Given the description of an element on the screen output the (x, y) to click on. 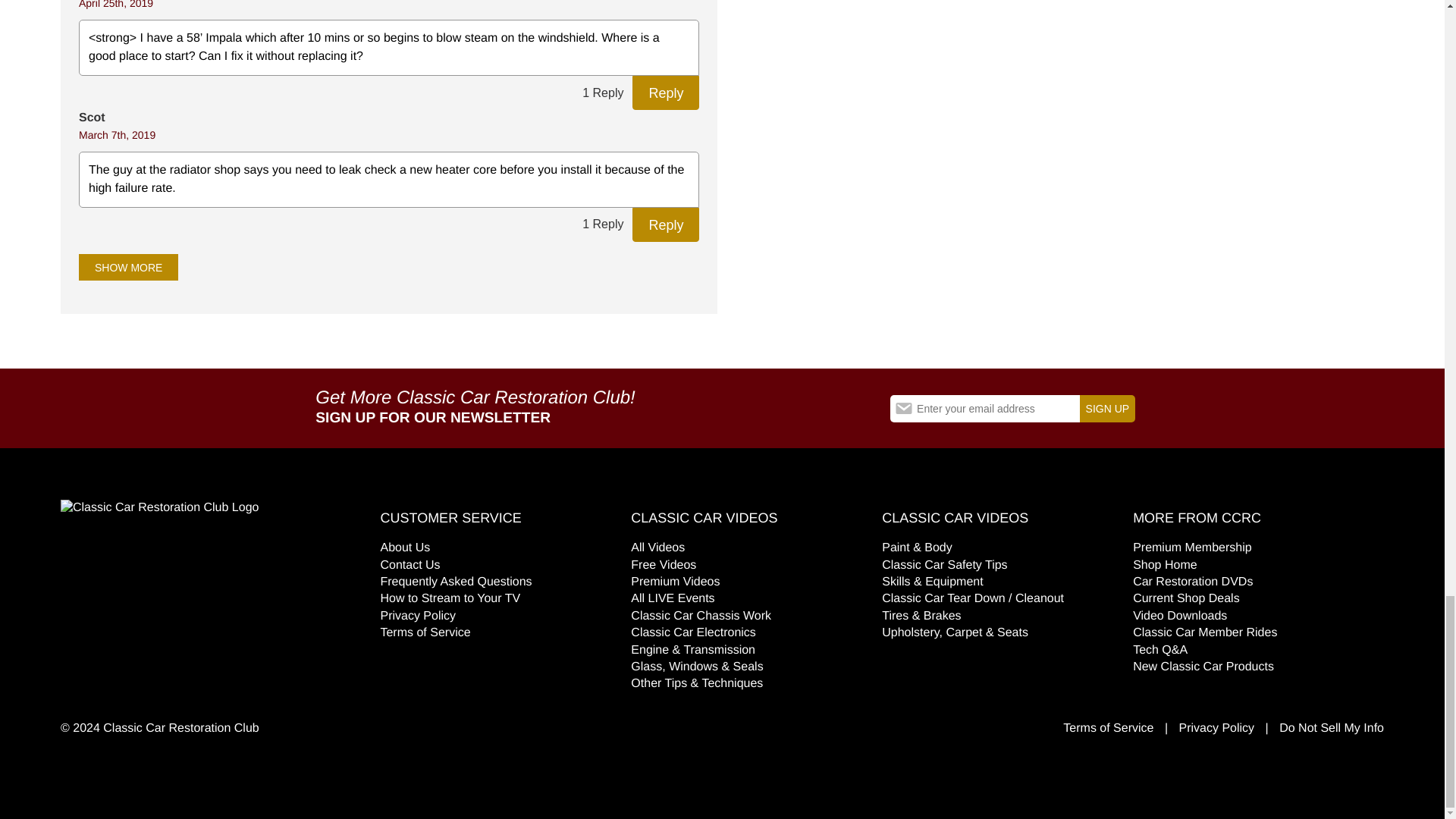
Reply (664, 224)
Sign Up (1107, 408)
1 Reply (602, 224)
SHOW MORE (127, 266)
Reply (664, 92)
1 Reply (602, 92)
